Given the description of an element on the screen output the (x, y) to click on. 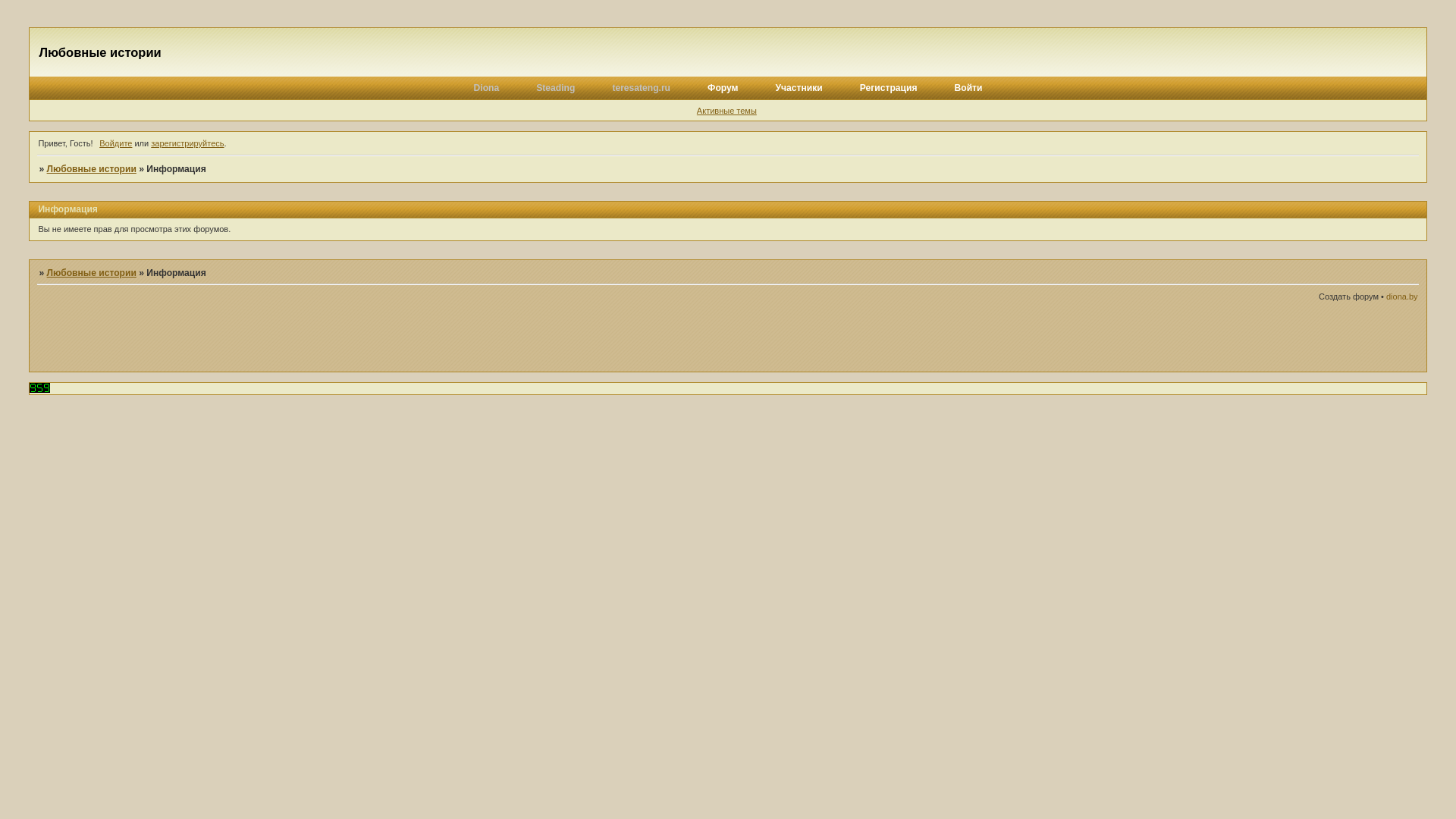
Advertisement Element type: hover (1240, 337)
Diona Element type: text (486, 87)
diona.by Element type: text (1402, 296)
Steading Element type: text (555, 87)
teresateng.ru Element type: text (640, 87)
